Given the description of an element on the screen output the (x, y) to click on. 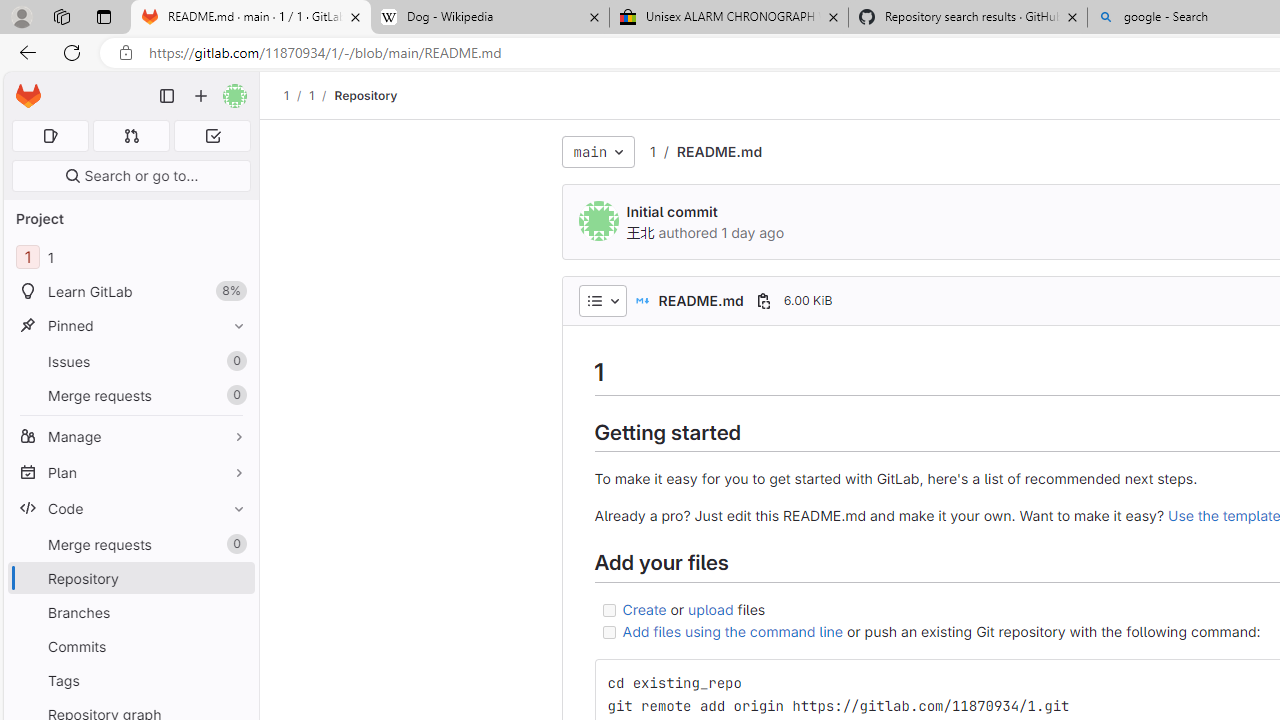
Pin Commits (234, 646)
Code (130, 507)
Branches (130, 612)
Manage (130, 435)
Initial commit (671, 211)
1 (652, 151)
Assigned issues 0 (50, 136)
1 (652, 151)
README.md (718, 151)
Tags (130, 679)
Skip to main content (23, 87)
Merge requests 0 (131, 136)
